Given the description of an element on the screen output the (x, y) to click on. 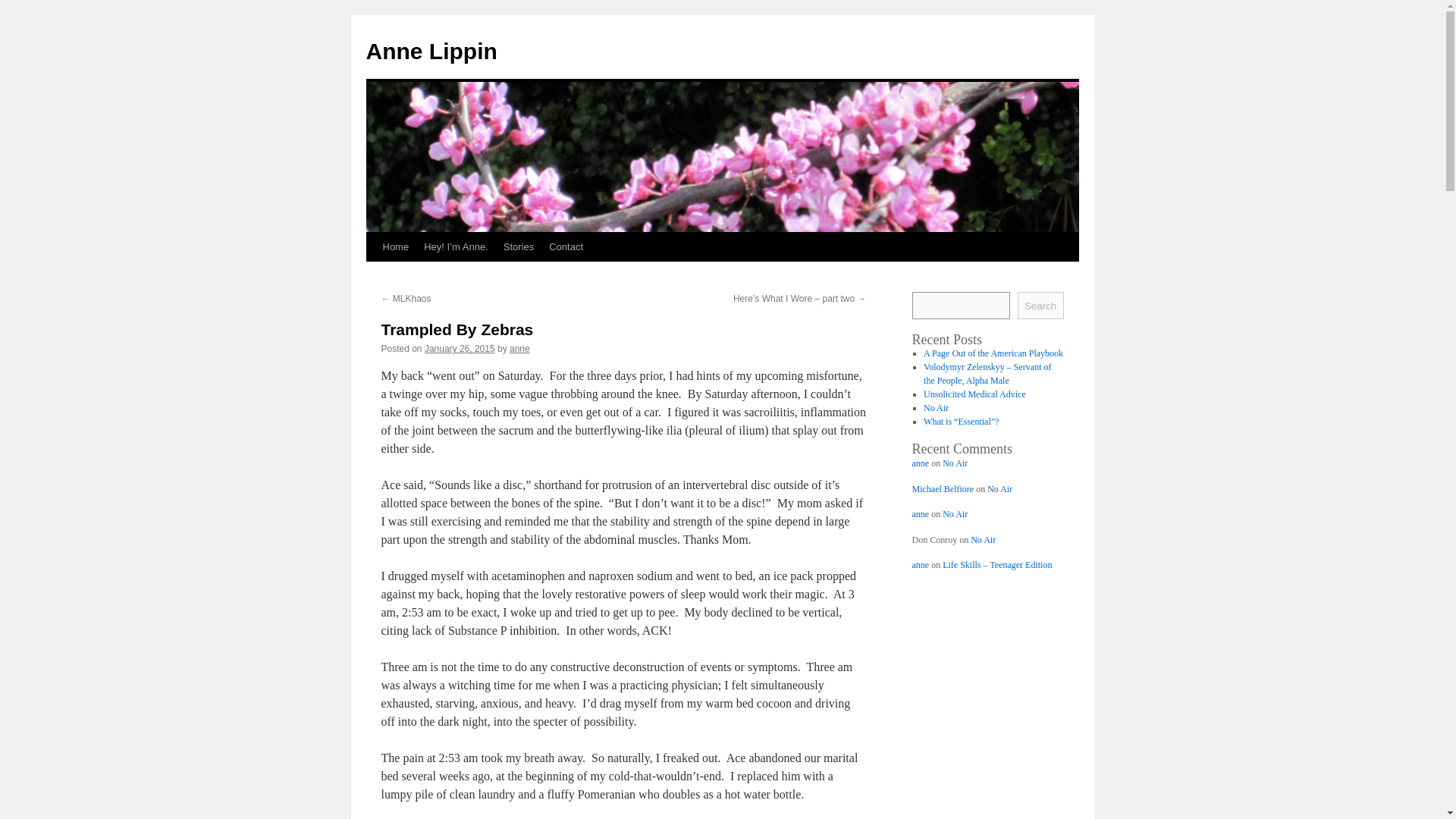
Stories (518, 246)
No Air (955, 462)
No Air (999, 489)
Michael Belfiore (942, 489)
View all posts by anne (519, 348)
anne (919, 513)
Anne Lippin (430, 50)
7:22 pm (460, 348)
No Air (936, 407)
Search (1040, 305)
Unsolicited Medical Advice (974, 394)
A Page Out of the American Playbook (992, 353)
January 26, 2015 (460, 348)
No Air (955, 513)
No Air (983, 539)
